Given the description of an element on the screen output the (x, y) to click on. 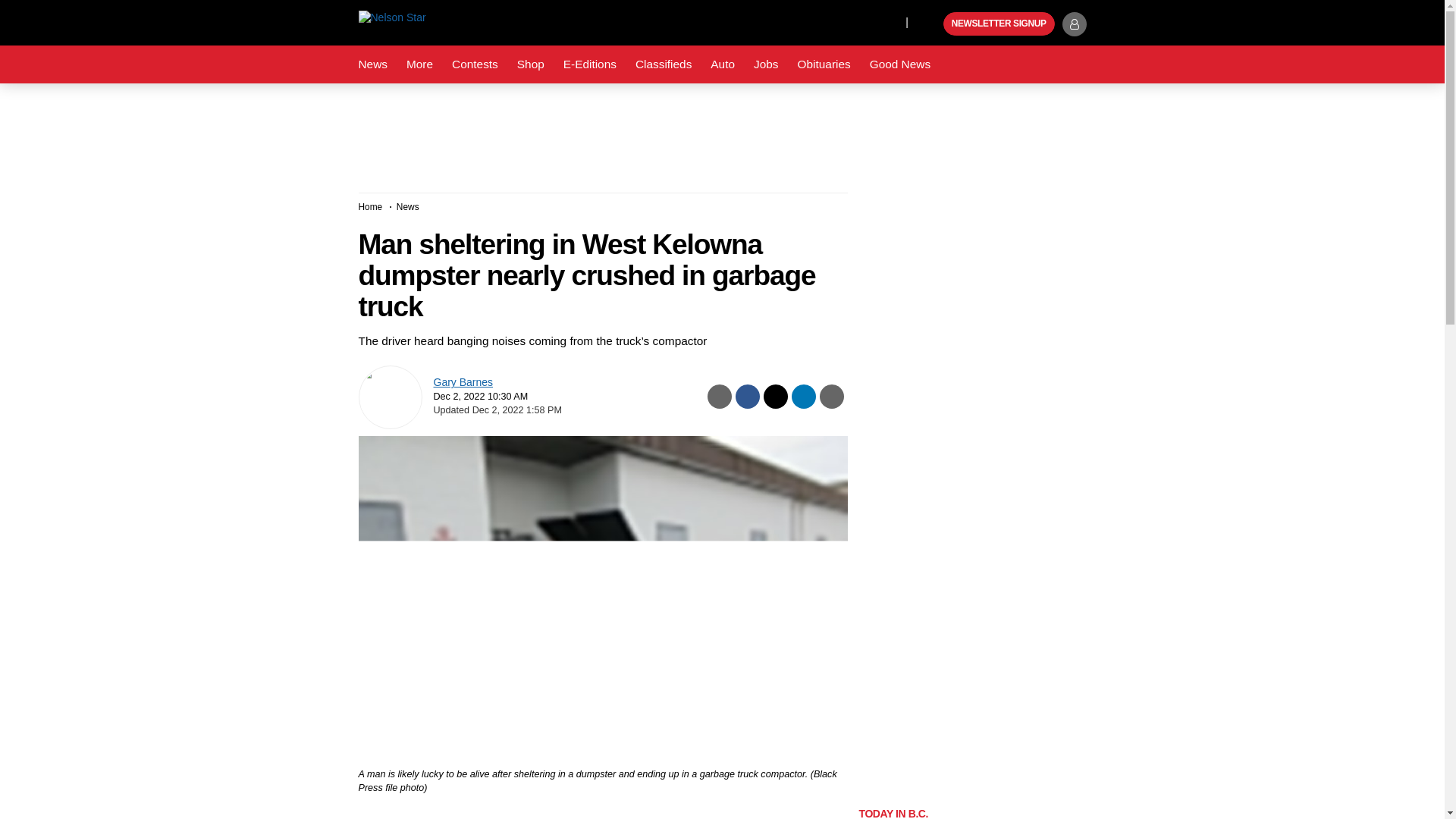
Black Press Media (929, 24)
NEWSLETTER SIGNUP (998, 24)
X (889, 21)
News (372, 64)
Play (929, 24)
